Given the description of an element on the screen output the (x, y) to click on. 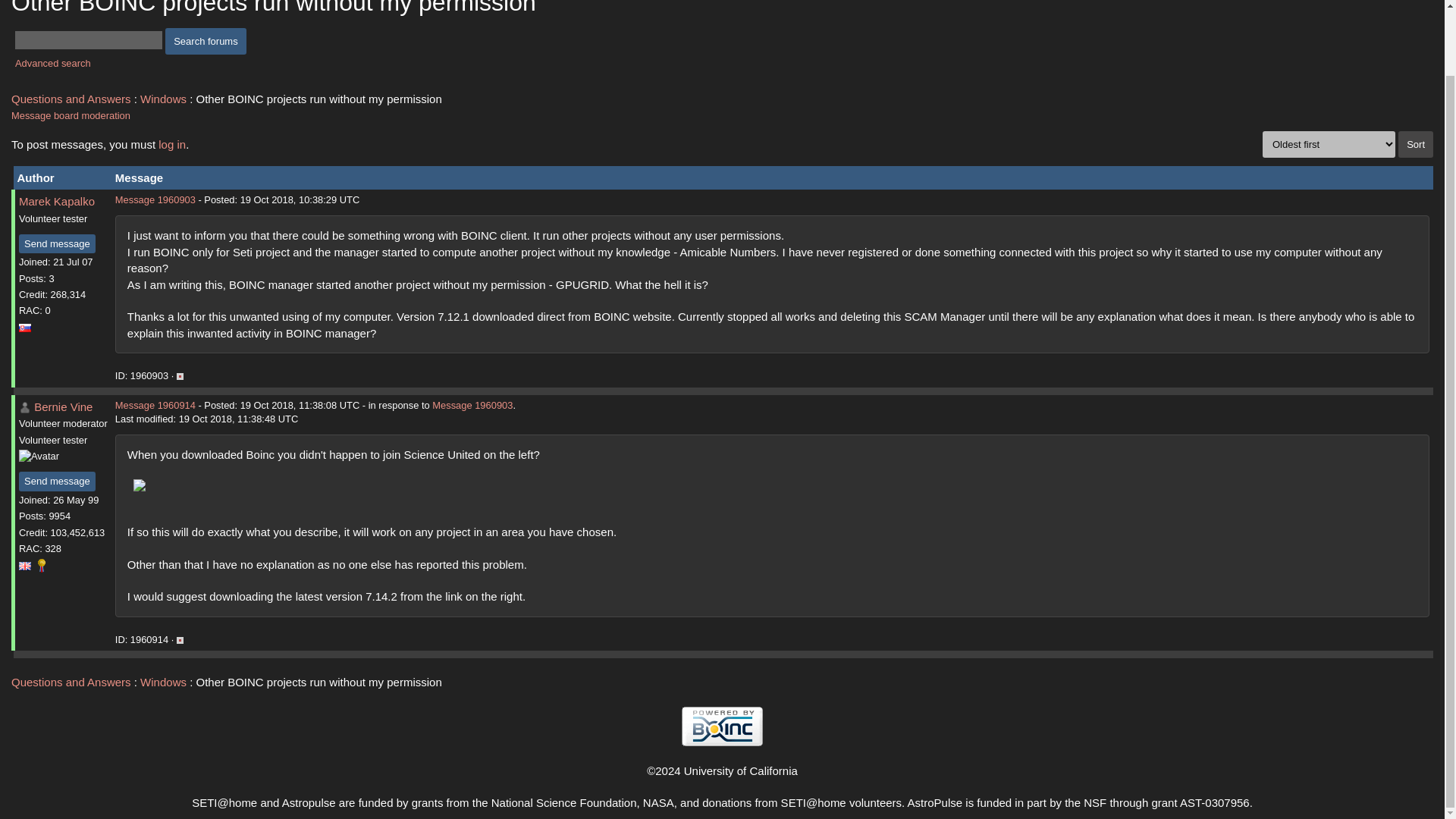
Slovakia (24, 327)
View the profile of Bernie Vine (24, 407)
Windows (162, 98)
Send Marek Kapalko a private message (57, 243)
Search for words in forum messages (205, 41)
Advanced search (52, 62)
Send Bernie Vine a private message (57, 481)
Sort (1414, 144)
Search forums (205, 41)
Report this post as offensive (179, 376)
Questions and Answers (71, 98)
Report this post as offensive (179, 640)
Search forums (205, 41)
United Kingdom (24, 565)
